Given the description of an element on the screen output the (x, y) to click on. 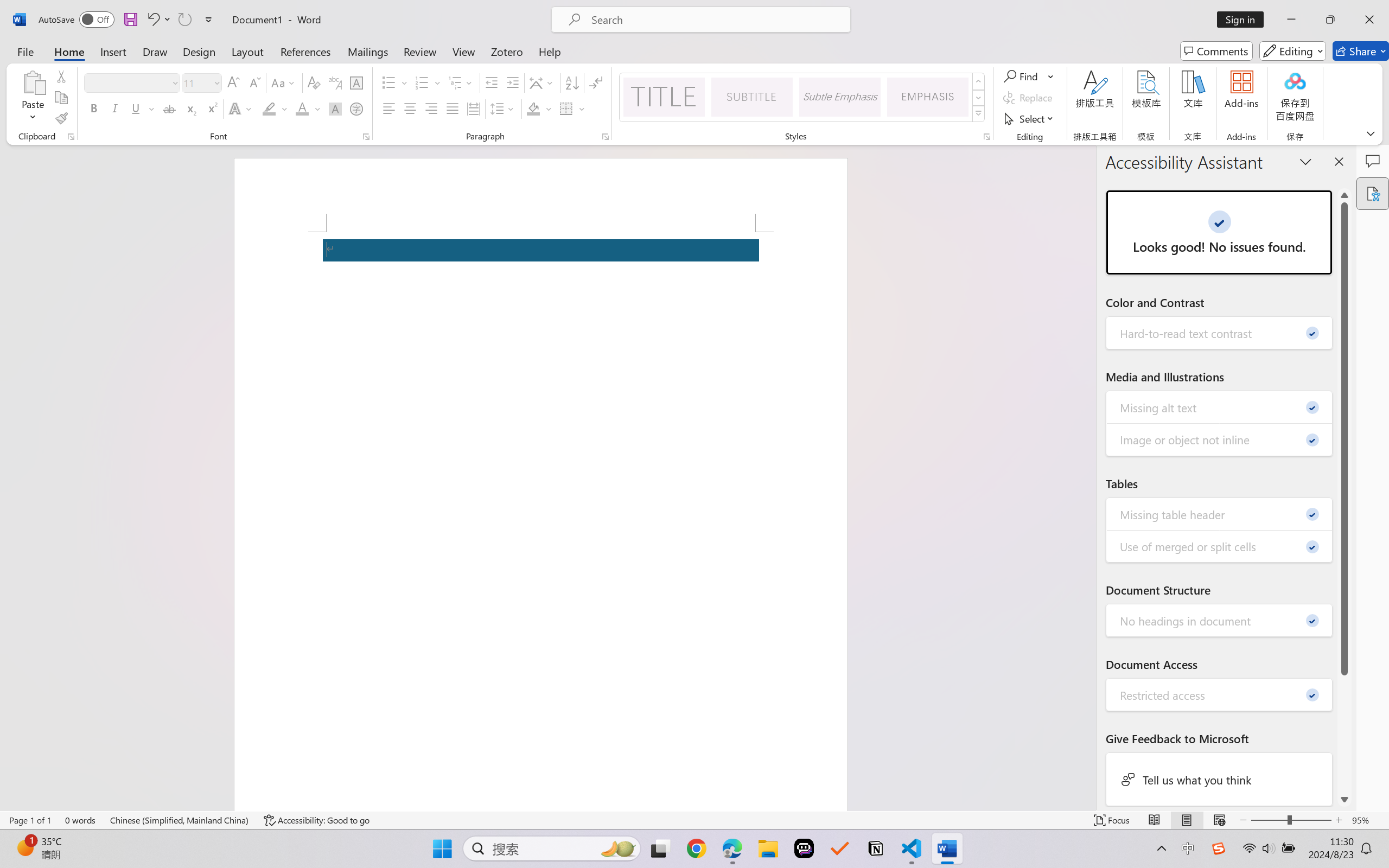
Looks good! No issues found. (1218, 232)
Subtitle (751, 96)
